Given the description of an element on the screen output the (x, y) to click on. 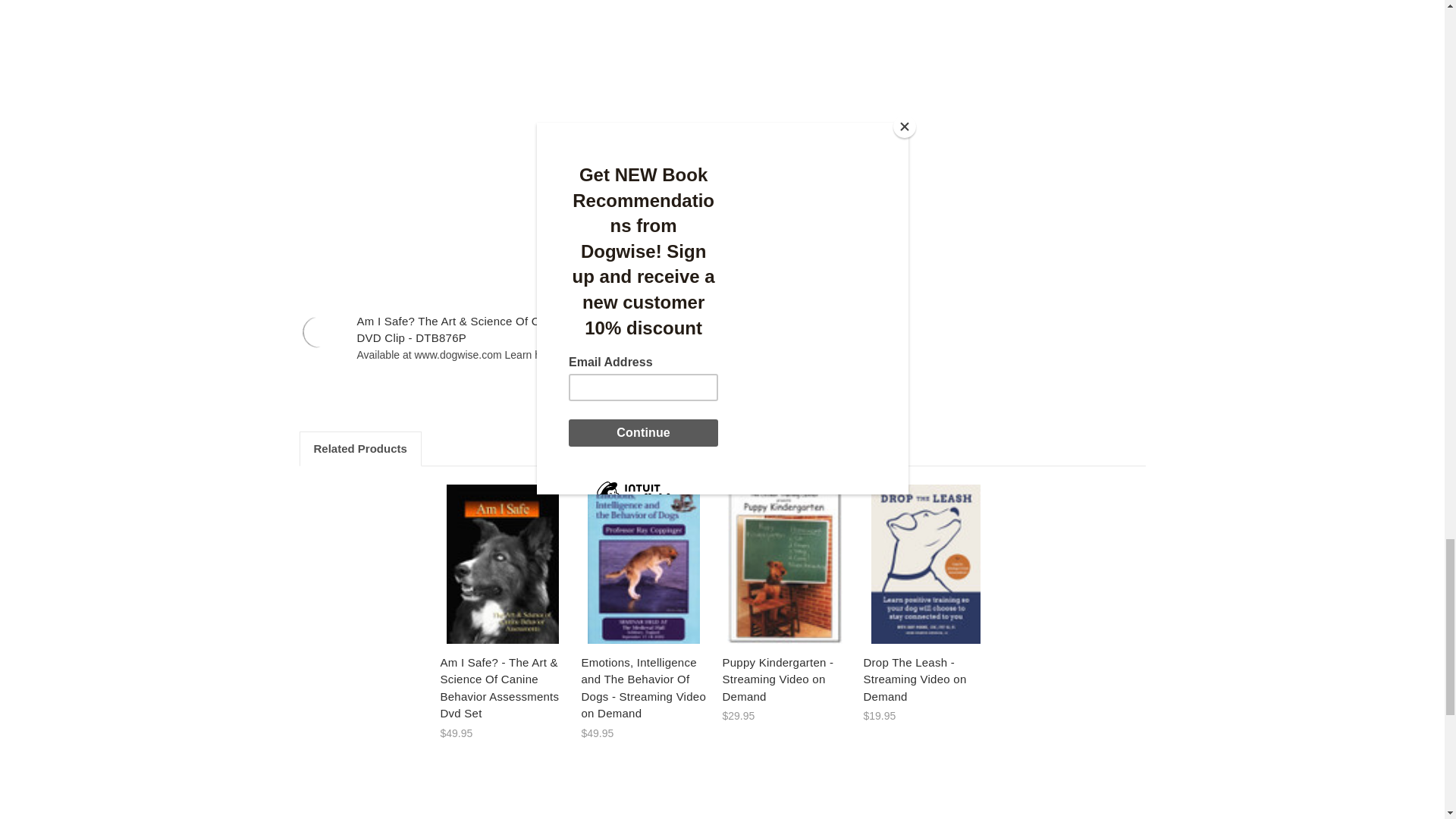
Cover (502, 563)
Puppy Kindergarten - Streaming Video on Demand (785, 563)
Cover (643, 563)
Drop The Leash - Streaming Video on Demand (926, 563)
